Given the description of an element on the screen output the (x, y) to click on. 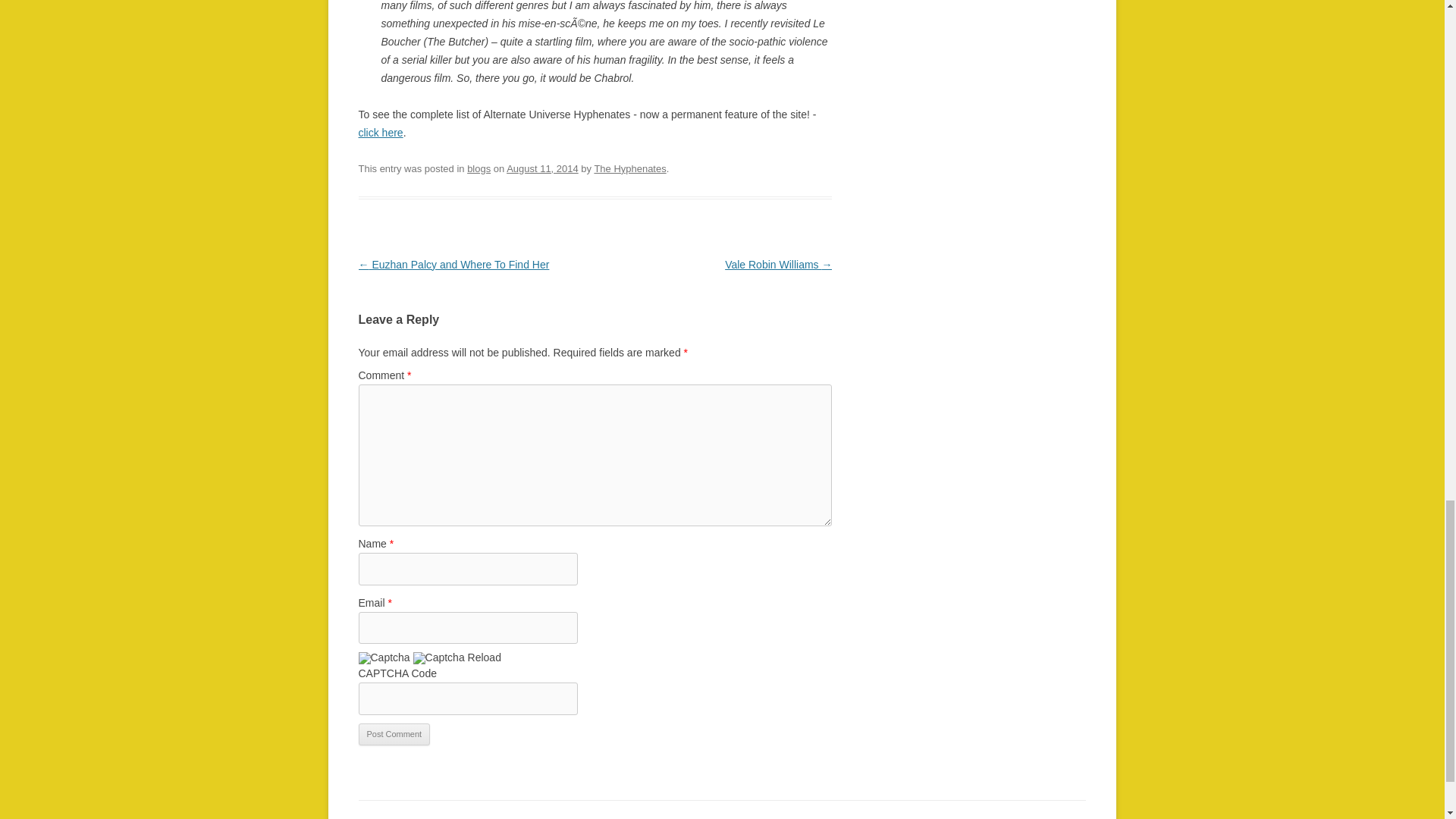
Post Comment (393, 734)
click here (380, 132)
The Hyphenates (629, 168)
blogs (478, 168)
Post Comment (393, 734)
Captcha Reload (456, 657)
View all posts by The Hyphenates (629, 168)
12:03 pm (542, 168)
August 11, 2014 (542, 168)
